Given the description of an element on the screen output the (x, y) to click on. 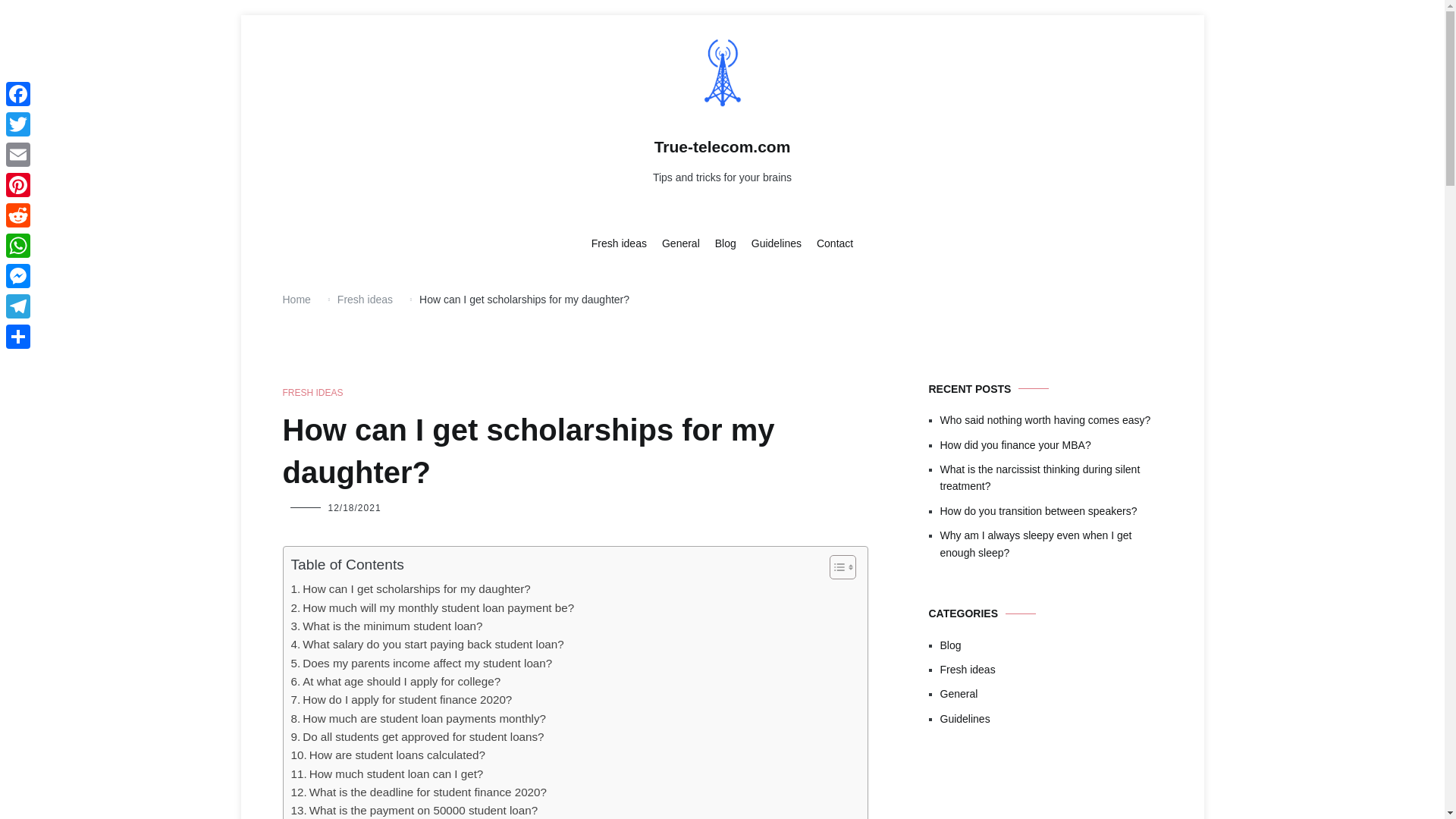
How much are student loan payments monthly? (419, 719)
How can I get scholarships for my daughter? (411, 588)
What is the payment on 50000 student loan? (414, 810)
Contact (834, 244)
General (681, 244)
Home (296, 299)
Guidelines (776, 244)
How much will my monthly student loan payment be? (433, 607)
How much are student loan payments monthly? (419, 719)
At what age should I apply for college? (395, 681)
How are student loans calculated? (387, 755)
At what age should I apply for college? (395, 681)
What is the deadline for student finance 2020? (419, 791)
What salary do you start paying back student loan? (427, 644)
